Given the description of an element on the screen output the (x, y) to click on. 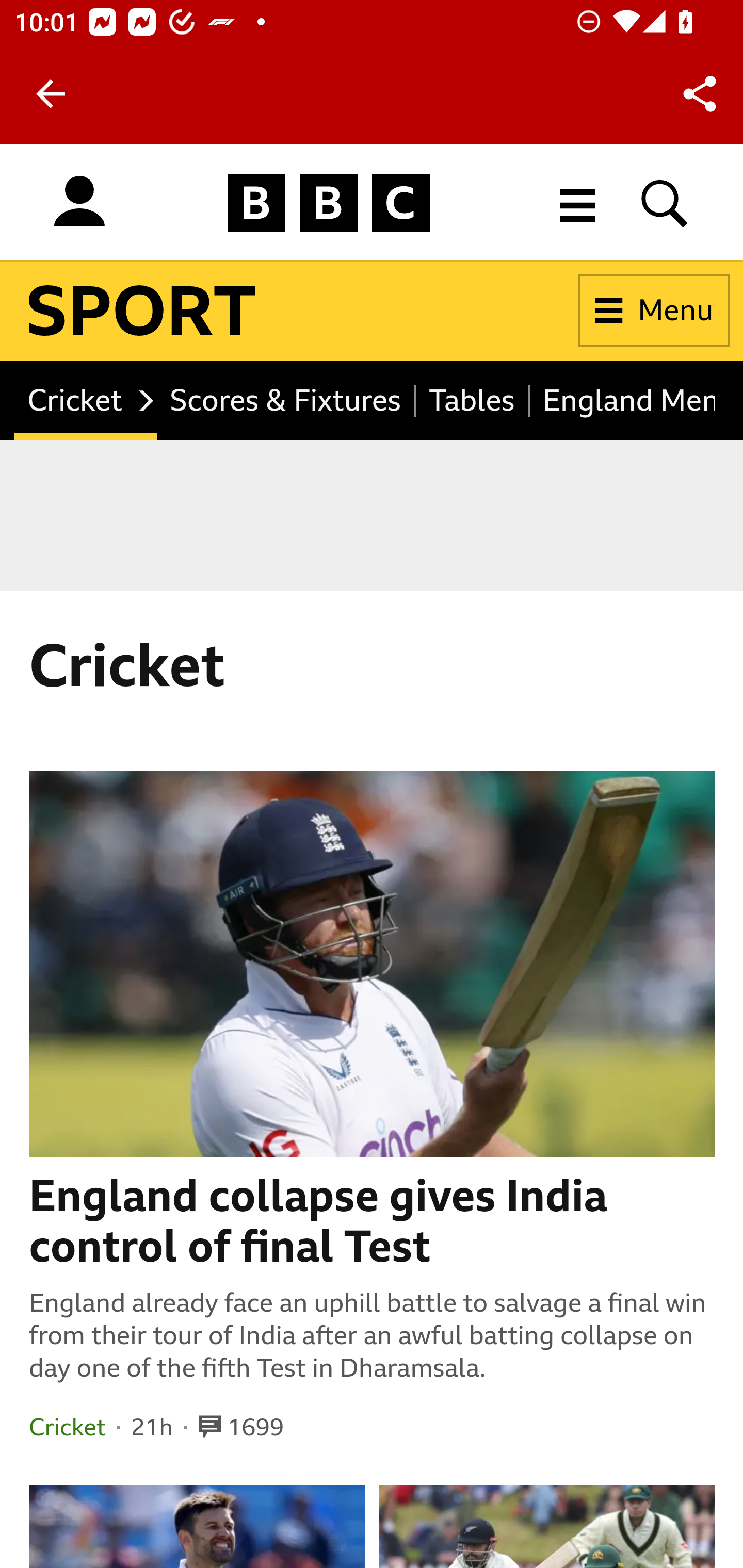
Back (50, 93)
Share (699, 93)
Sign in (79, 202)
BBC Homepage (329, 202)
More menu (578, 202)
Search BBC (665, 202)
BBC Sport (142, 311)
Menu (654, 311)
Cricket (86, 400)
Scores & Fixtures (285, 400)
Tables (473, 400)
England Men (622, 400)
England collapse gives India control of final Test (372, 1221)
Cricket (67, 1426)
